Given the description of an element on the screen output the (x, y) to click on. 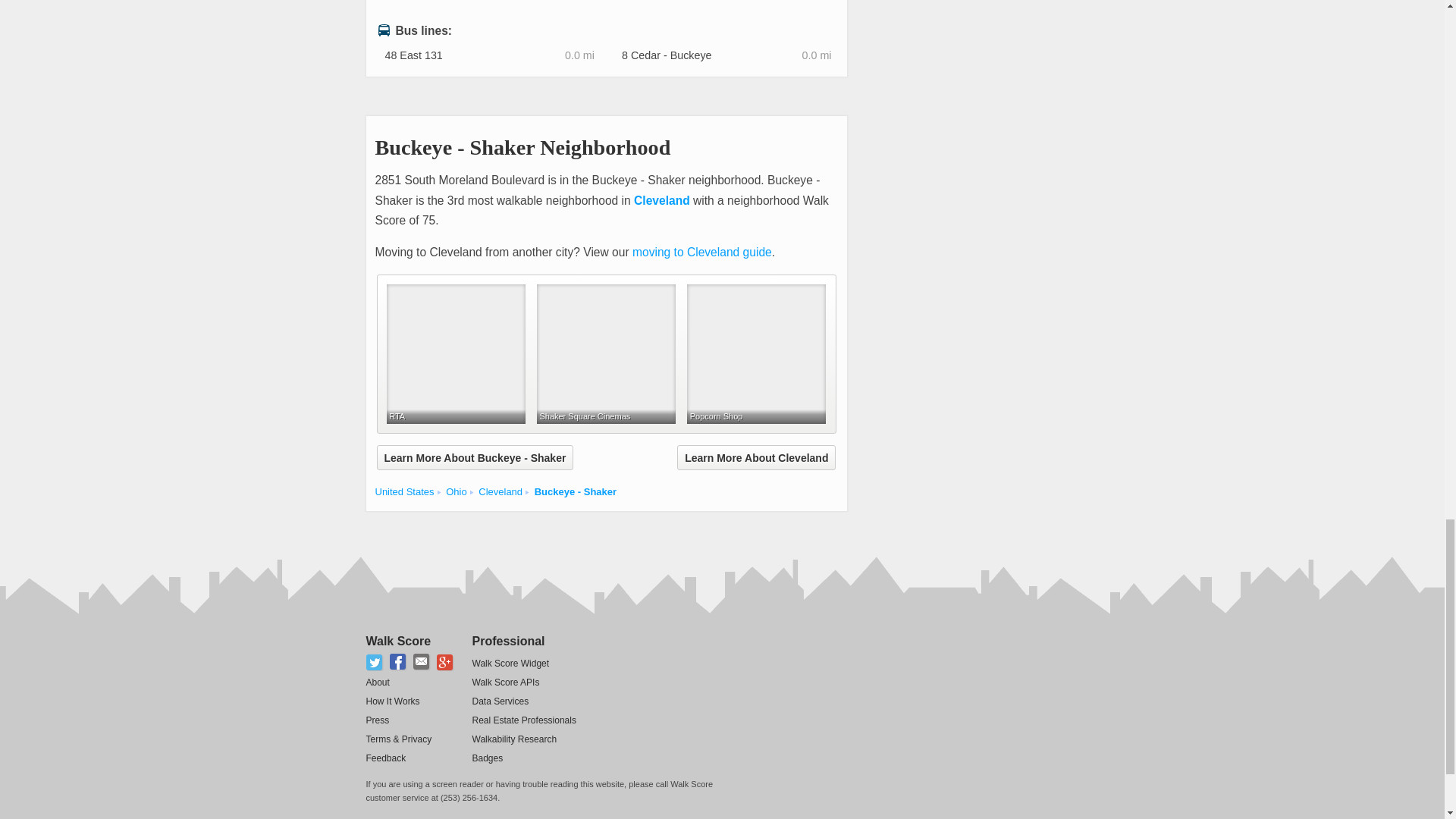
moving to Cleveland guide (701, 251)
United States Walkability Rankings (403, 491)
Cities in Ohio state (455, 491)
Cleveland (661, 200)
